Given the description of an element on the screen output the (x, y) to click on. 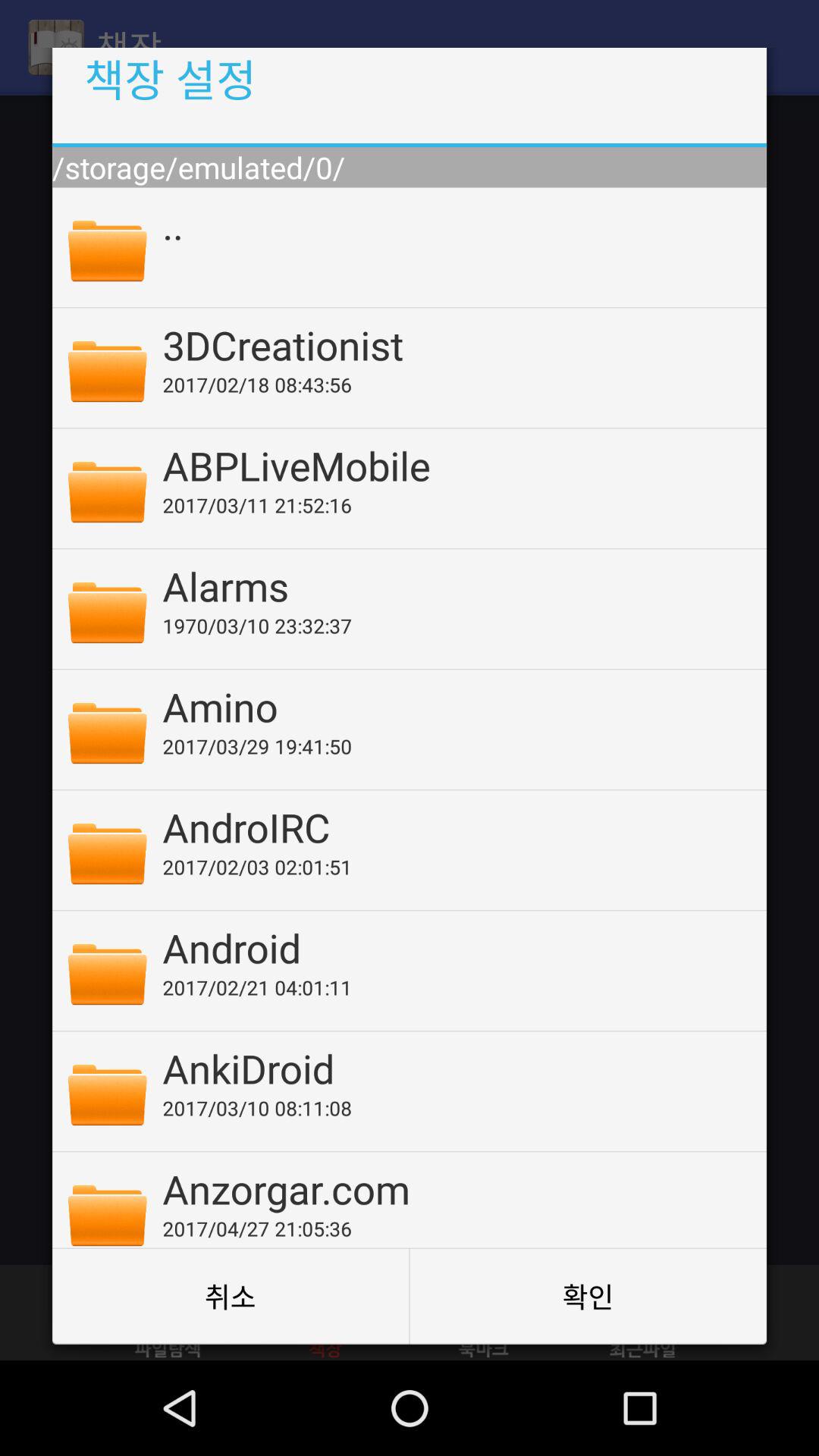
launch the icon above 2017 02 18 item (454, 344)
